Given the description of an element on the screen output the (x, y) to click on. 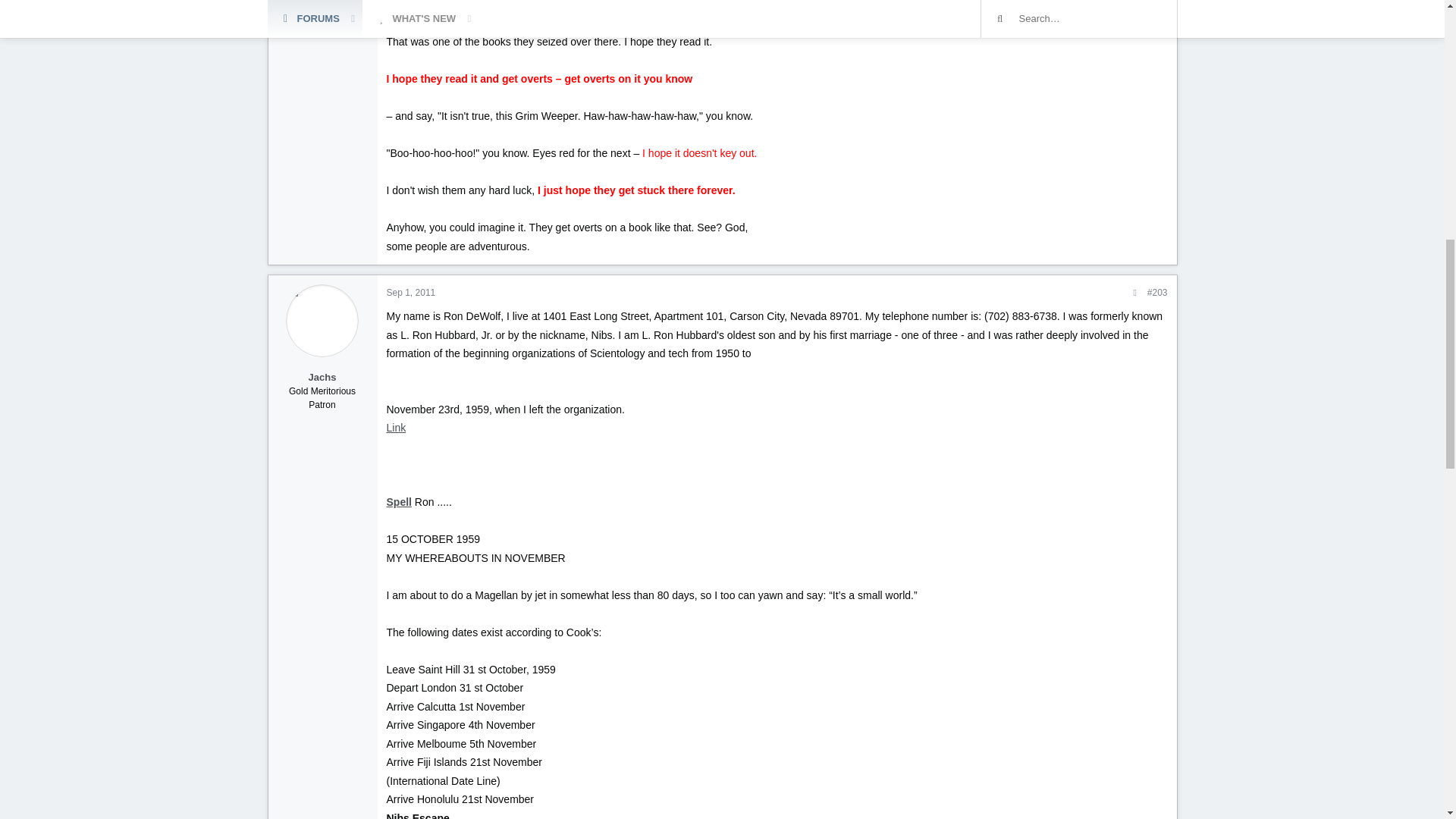
Sep 1, 2011 at 4:00 PM (411, 292)
